Given the description of an element on the screen output the (x, y) to click on. 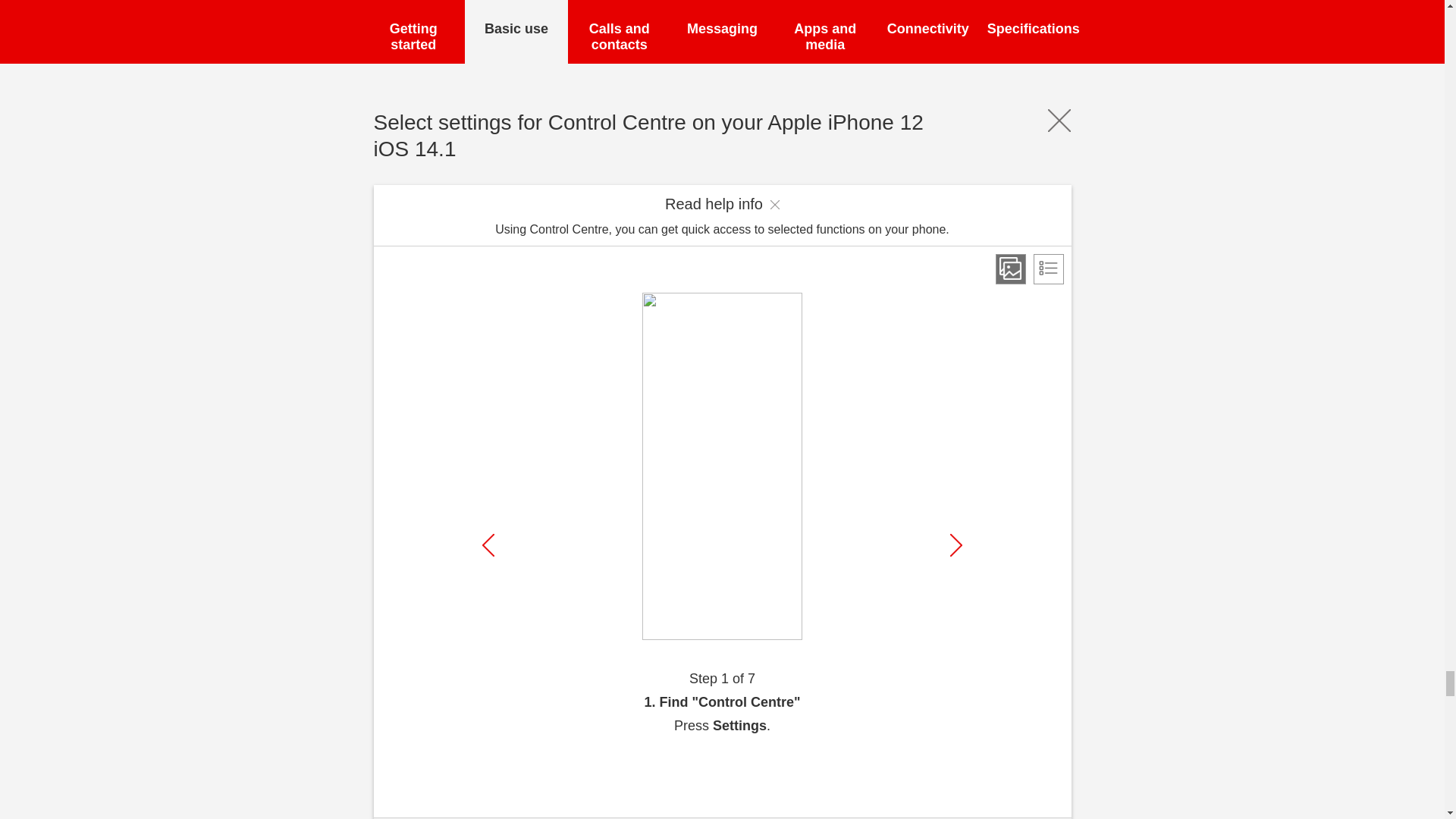
Connectivity (927, 31)
Specifications (1031, 31)
Calls and contacts (619, 31)
Getting started (413, 31)
Messaging (722, 31)
Apps and media (824, 31)
Basic use (515, 31)
